Given the description of an element on the screen output the (x, y) to click on. 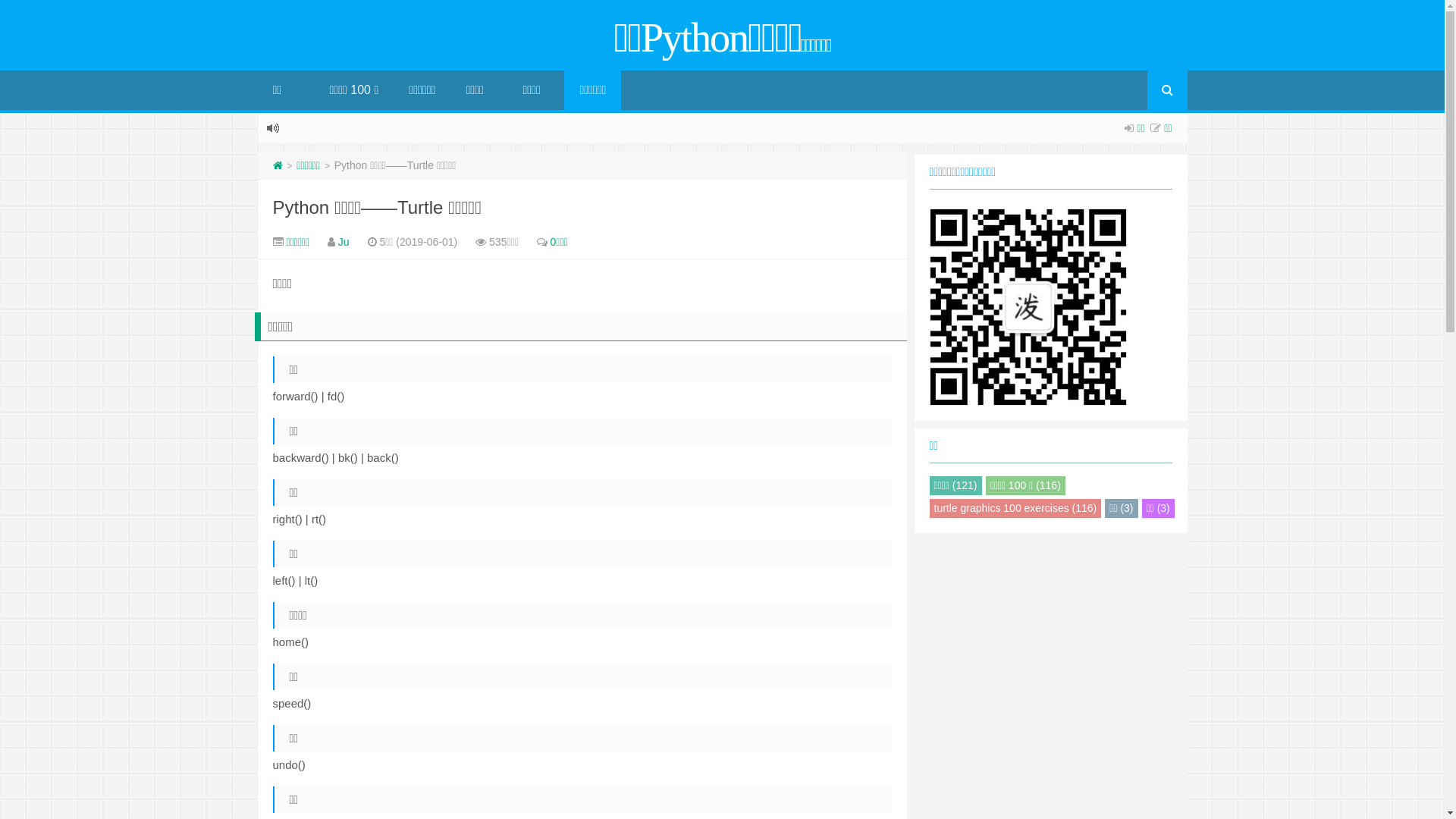
Ju Element type: text (343, 241)
turtle graphics 100 exercises (116) Element type: text (1015, 507)
